Given the description of an element on the screen output the (x, y) to click on. 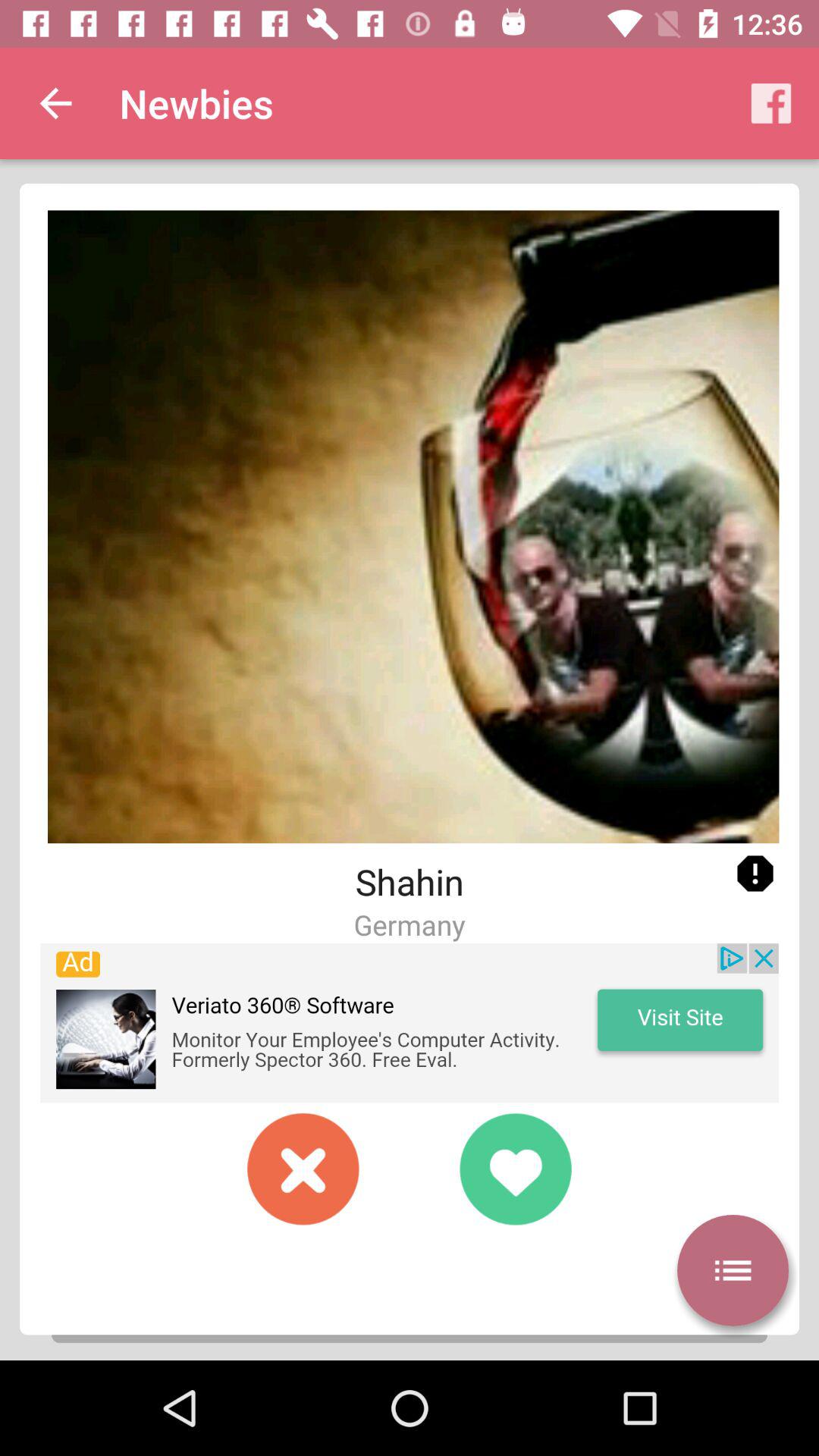
make it favorite (515, 1169)
